Given the description of an element on the screen output the (x, y) to click on. 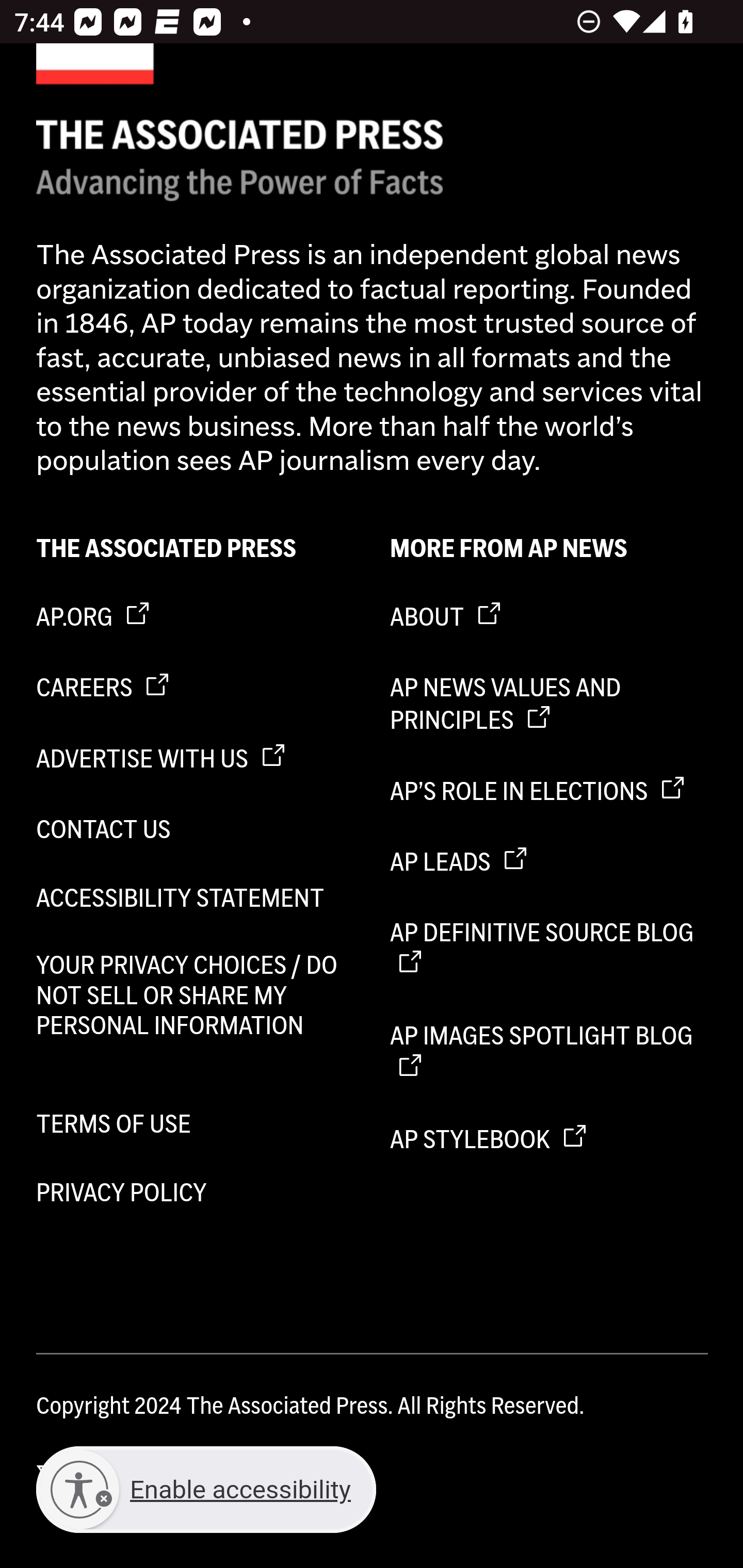
AP.ORG  (195, 616)
ABOUT  (549, 616)
CAREERS  (195, 688)
AP NEWS VALUES AND PRINCIPLES  (549, 704)
ADVERTISE WITH US  (195, 758)
AP’S ROLE IN ELECTIONS  (549, 791)
CONTACT US (195, 829)
AP LEADS  (549, 863)
ACCESSIBILITY STATEMENT (195, 898)
AP DEFINITIVE SOURCE BLOG  (549, 949)
AP IMAGES SPOTLIGHT BLOG  (549, 1052)
TERMS OF USE (195, 1124)
AP STYLEBOOK  (549, 1139)
PRIVACY POLICY (195, 1191)
Enable accessibility (206, 1490)
